Given the description of an element on the screen output the (x, y) to click on. 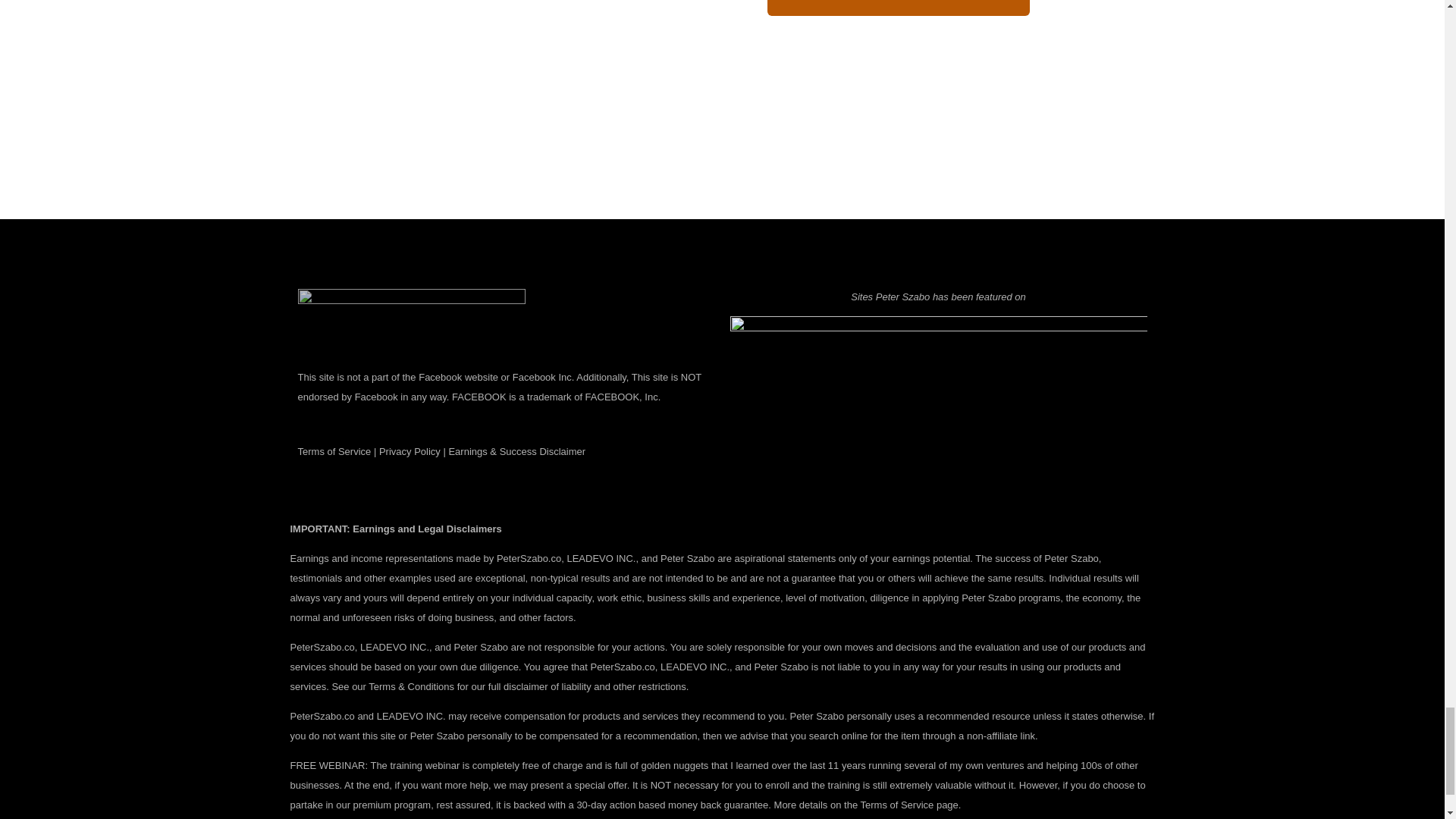
BOOK YOUR FREE CONSULTATION CALL (898, 7)
Privacy Policy (409, 451)
Terms of Service (334, 451)
